Given the description of an element on the screen output the (x, y) to click on. 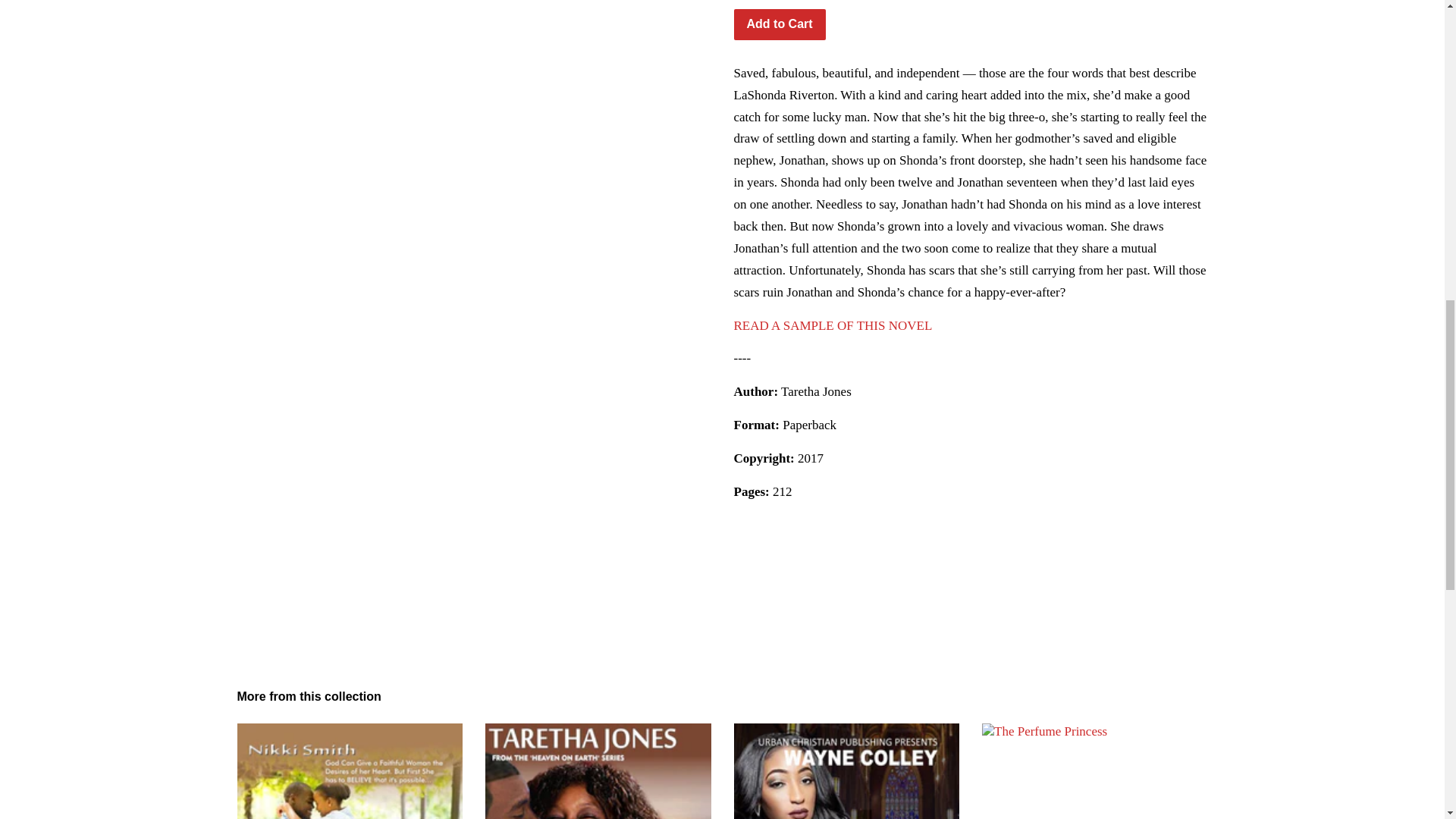
Add to Cart (779, 24)
READ A SAMPLE OF THIS NOVEL (833, 325)
